Given the description of an element on the screen output the (x, y) to click on. 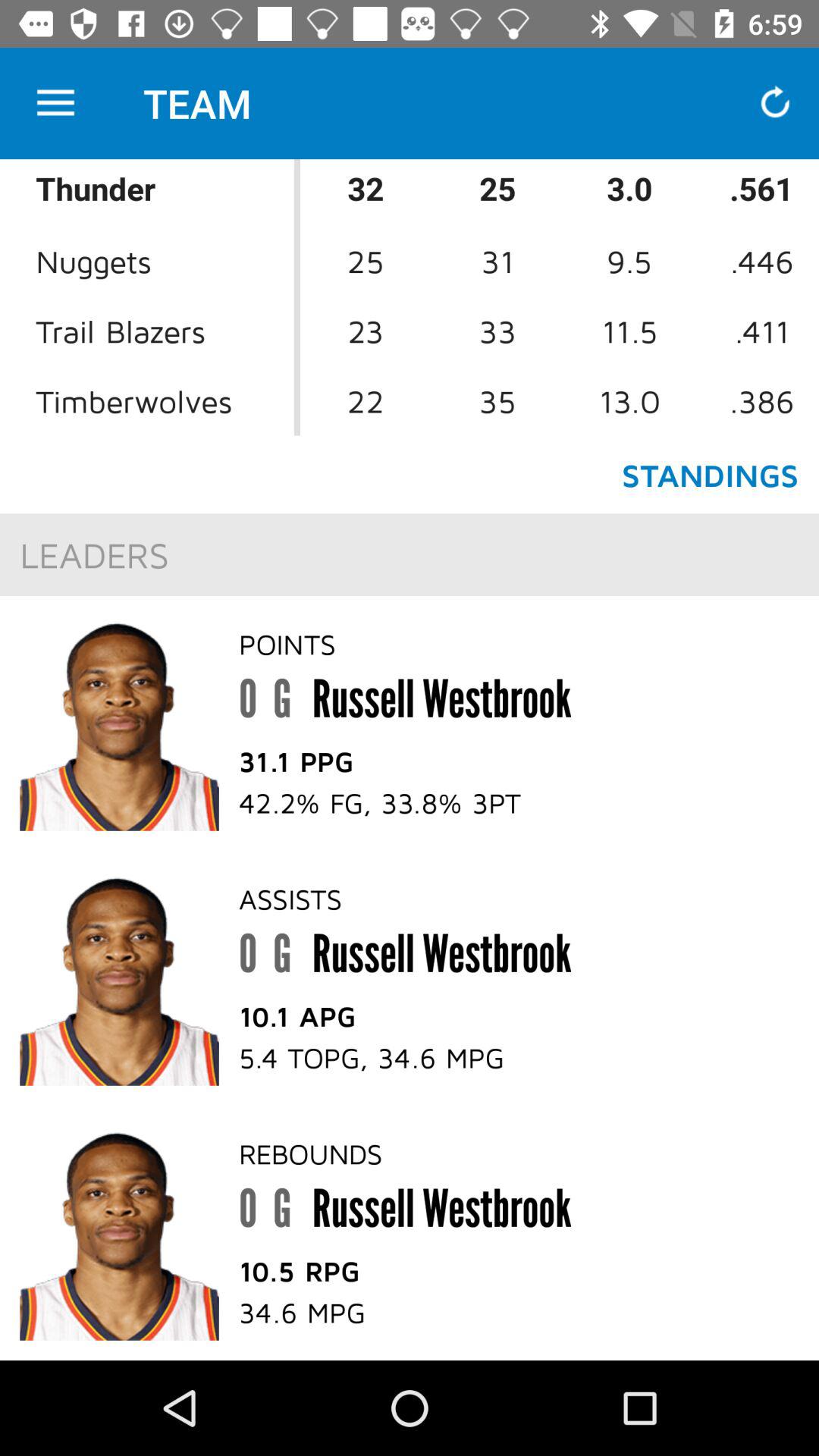
click the icon to the left of the team item (55, 103)
